Given the description of an element on the screen output the (x, y) to click on. 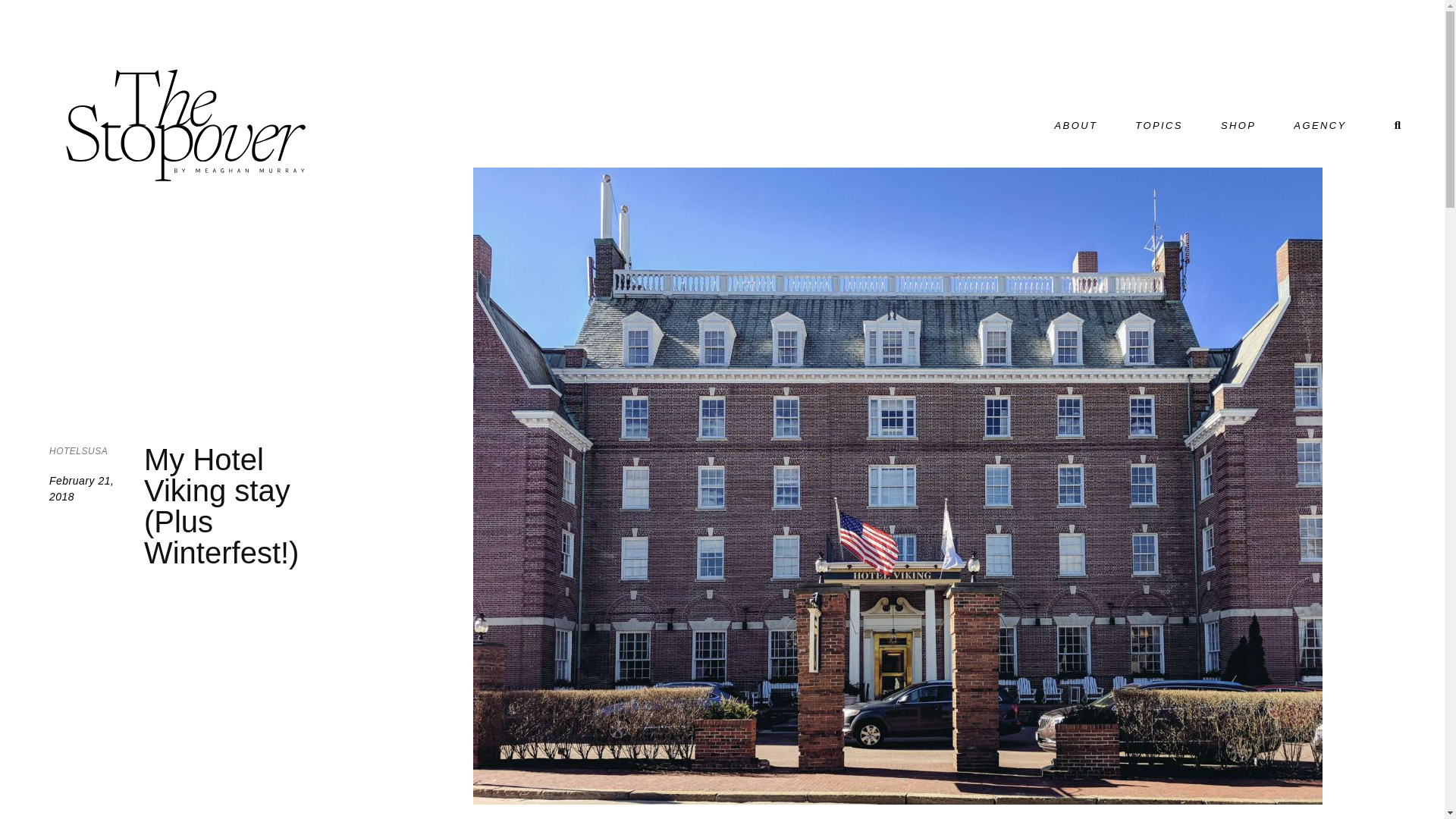
SHOP (1238, 124)
TOPICS (1158, 124)
ABOUT (1076, 124)
AGENCY (1319, 124)
